Given the description of an element on the screen output the (x, y) to click on. 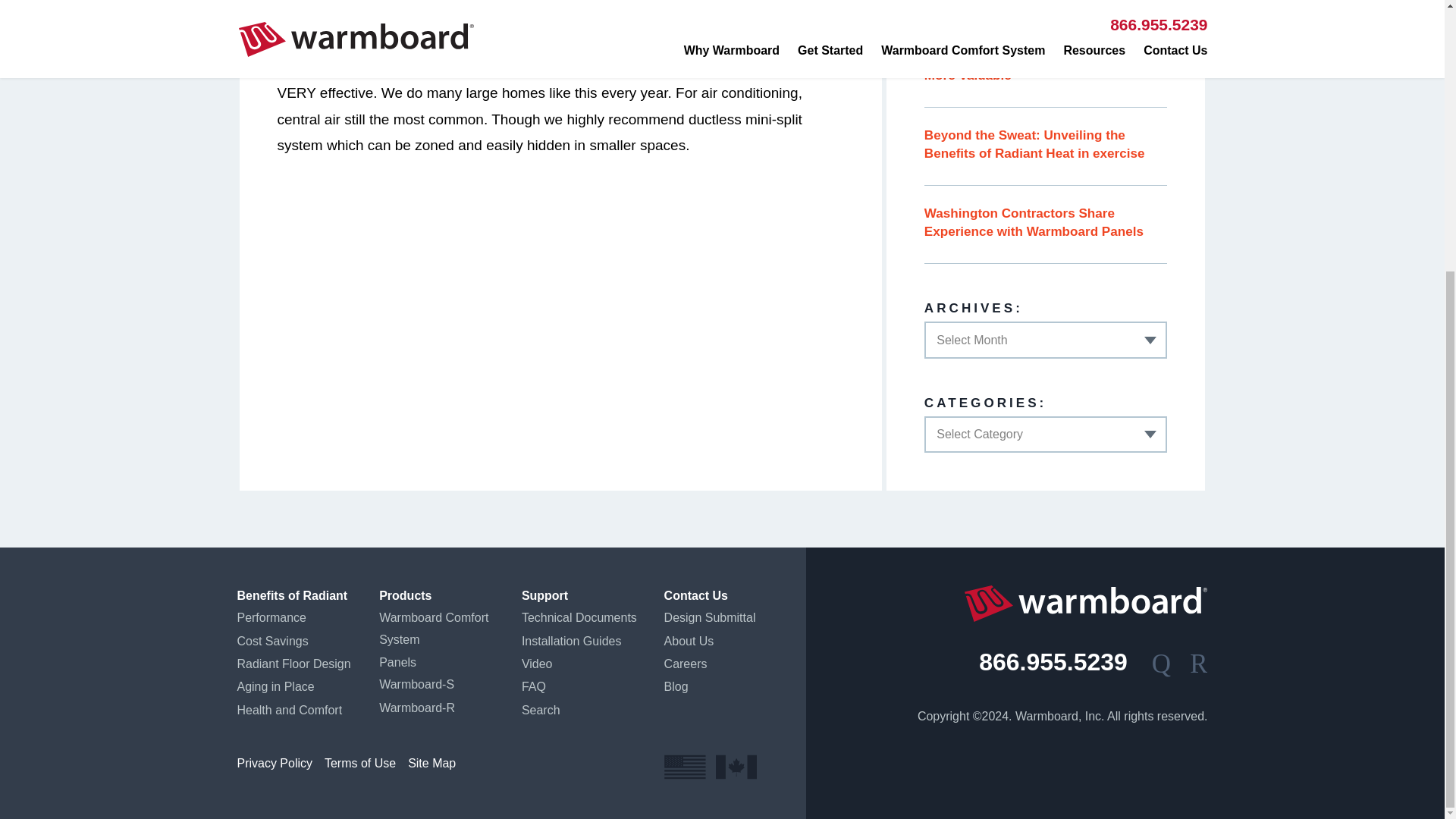
Select Category (1046, 434)
Warmboard, Inc (1085, 603)
Select Month (1046, 340)
